Given the description of an element on the screen output the (x, y) to click on. 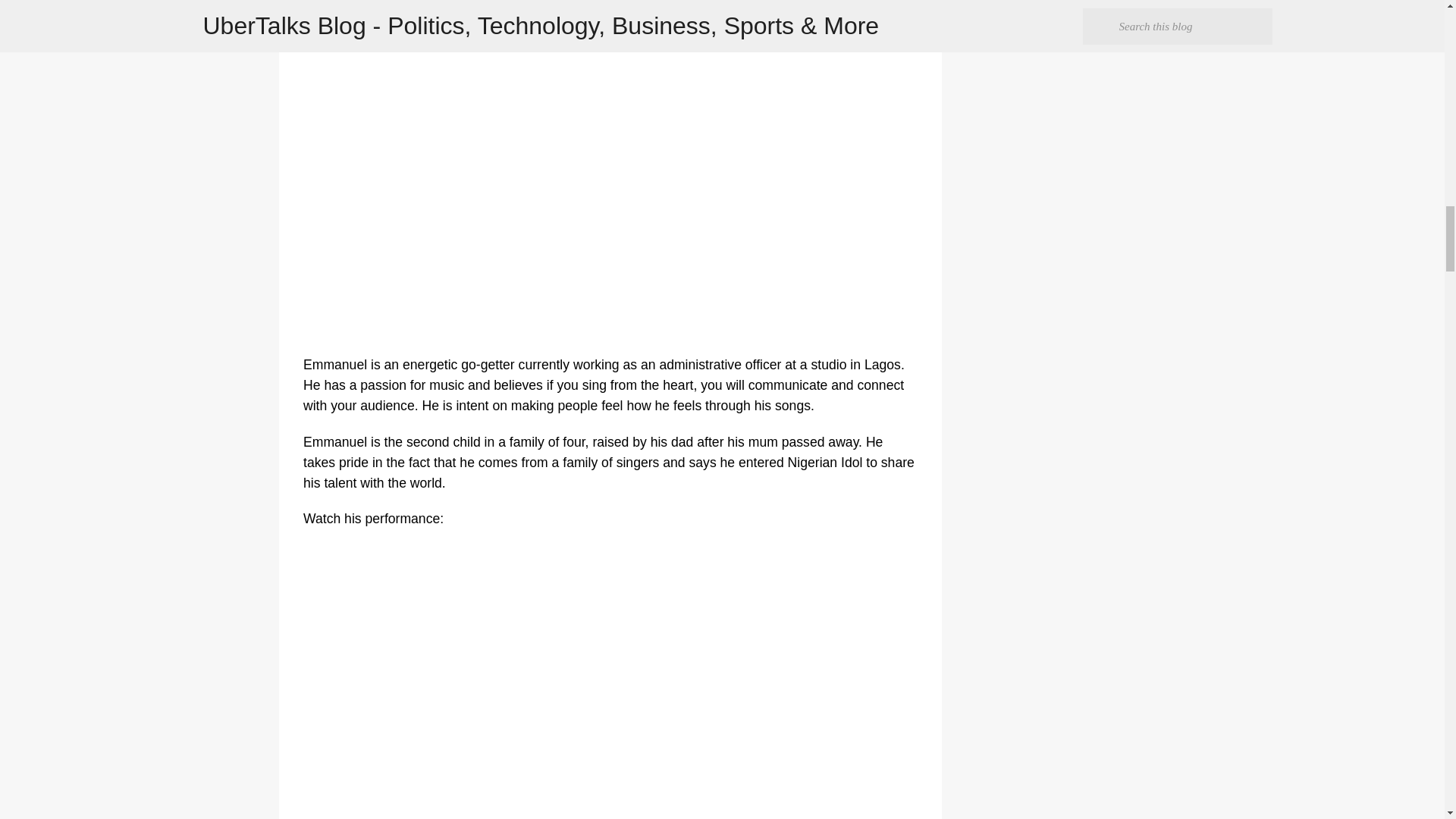
YouTube video player (545, 195)
Emmanuel Elijah (389, 37)
YouTube video player (545, 681)
